Given the description of an element on the screen output the (x, y) to click on. 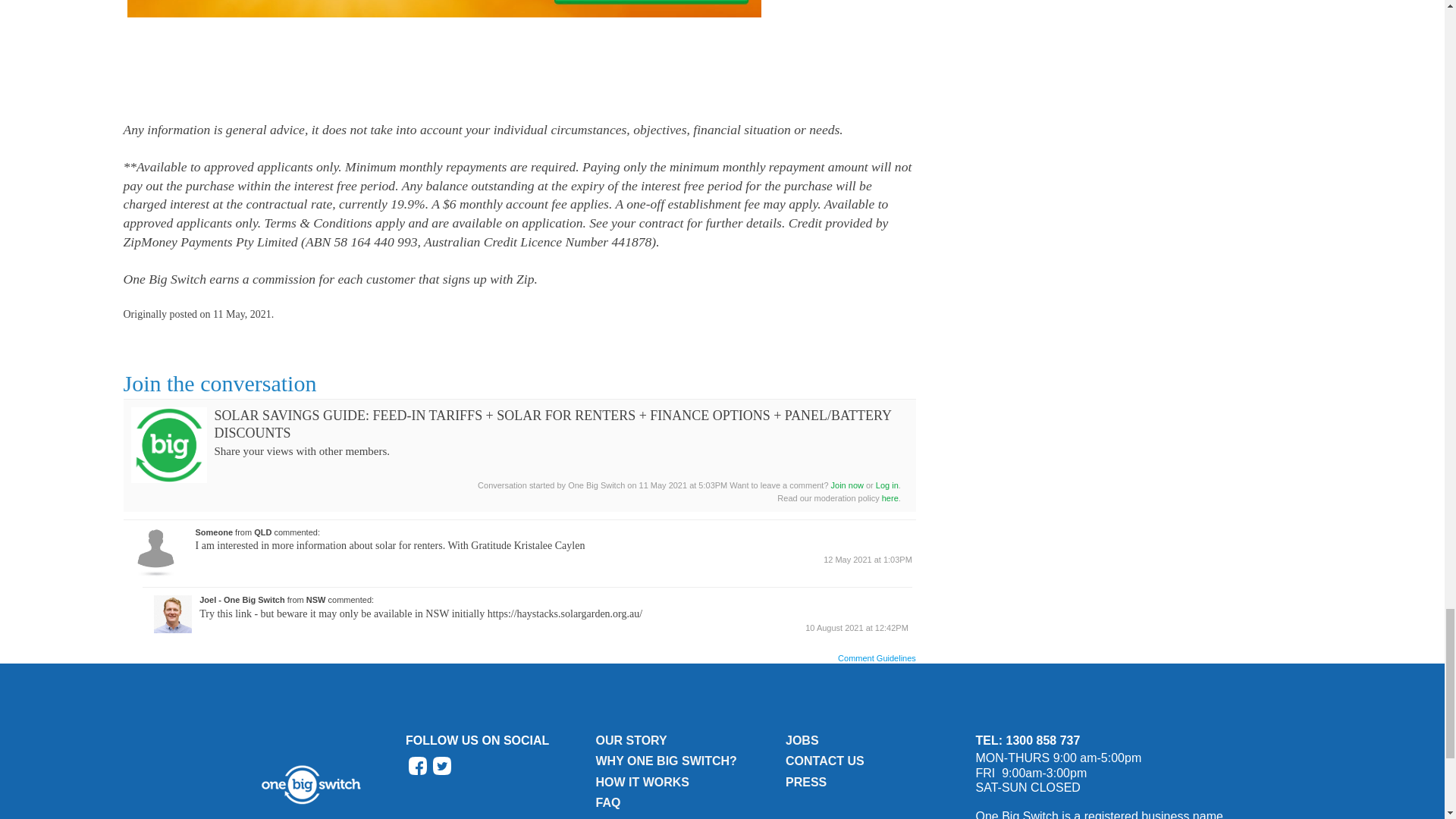
here (890, 497)
Join now (847, 484)
Log in (887, 484)
Comment Guidelines (876, 658)
